Given the description of an element on the screen output the (x, y) to click on. 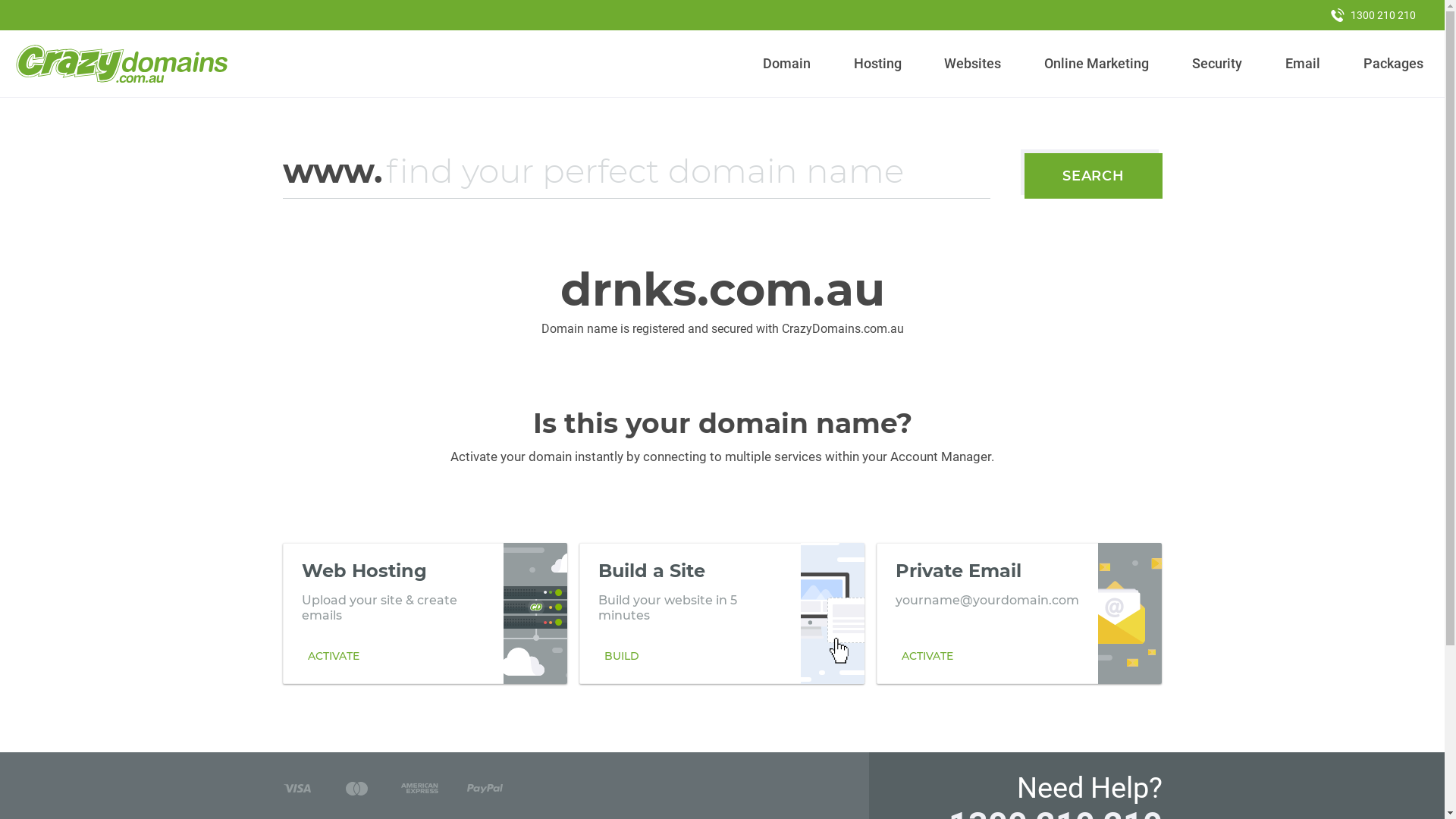
Email Element type: text (1302, 63)
Websites Element type: text (972, 63)
1300 210 210 Element type: text (1373, 15)
Web Hosting
Upload your site & create emails
ACTIVATE Element type: text (424, 613)
Hosting Element type: text (877, 63)
Security Element type: text (1217, 63)
Build a Site
Build your website in 5 minutes
BUILD Element type: text (721, 613)
Private Email
yourname@yourdomain.com
ACTIVATE Element type: text (1018, 613)
Domain Element type: text (786, 63)
SEARCH Element type: text (1092, 175)
Packages Element type: text (1392, 63)
Online Marketing Element type: text (1096, 63)
